Given the description of an element on the screen output the (x, y) to click on. 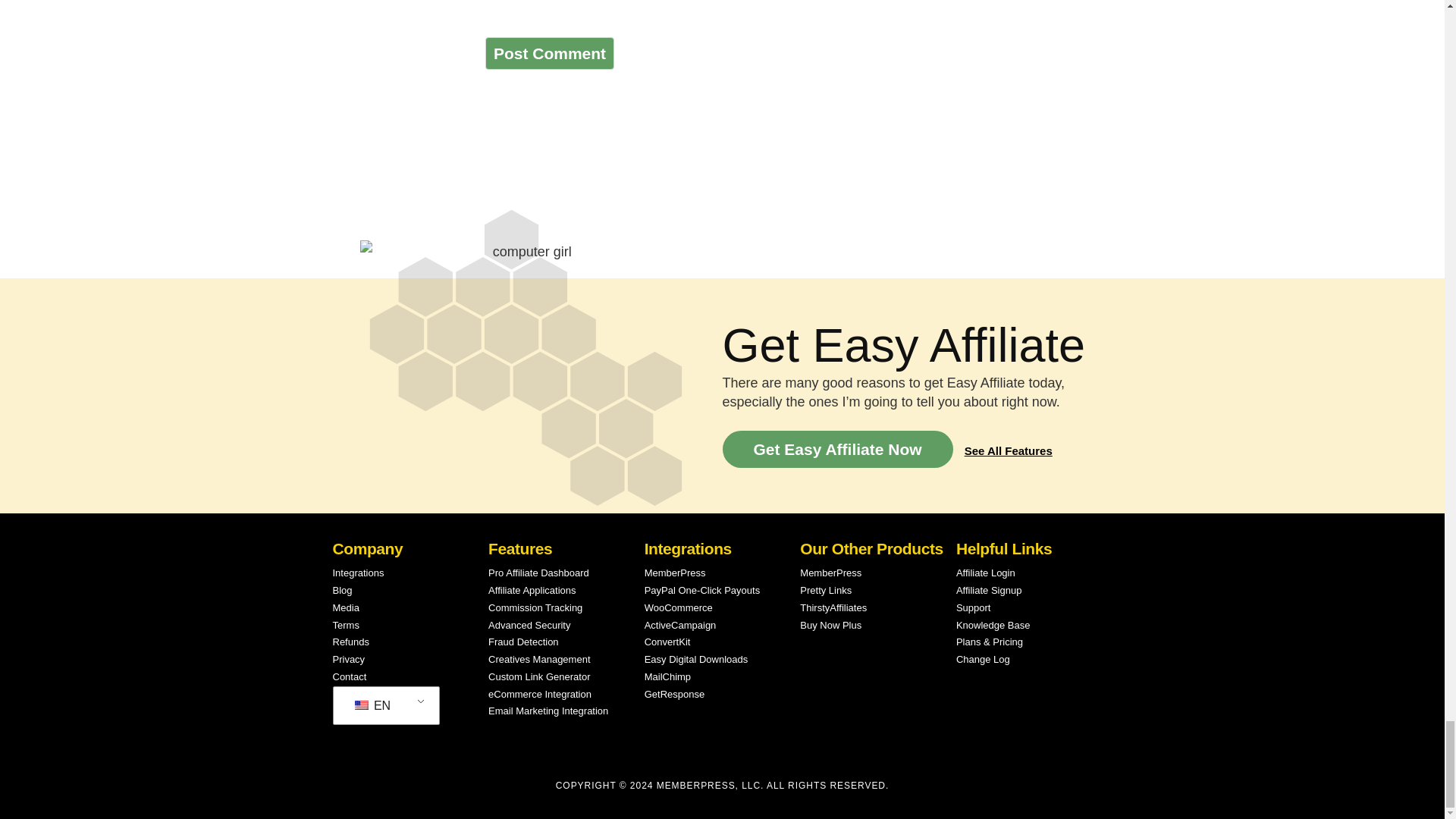
Post Comment (549, 52)
